Given the description of an element on the screen output the (x, y) to click on. 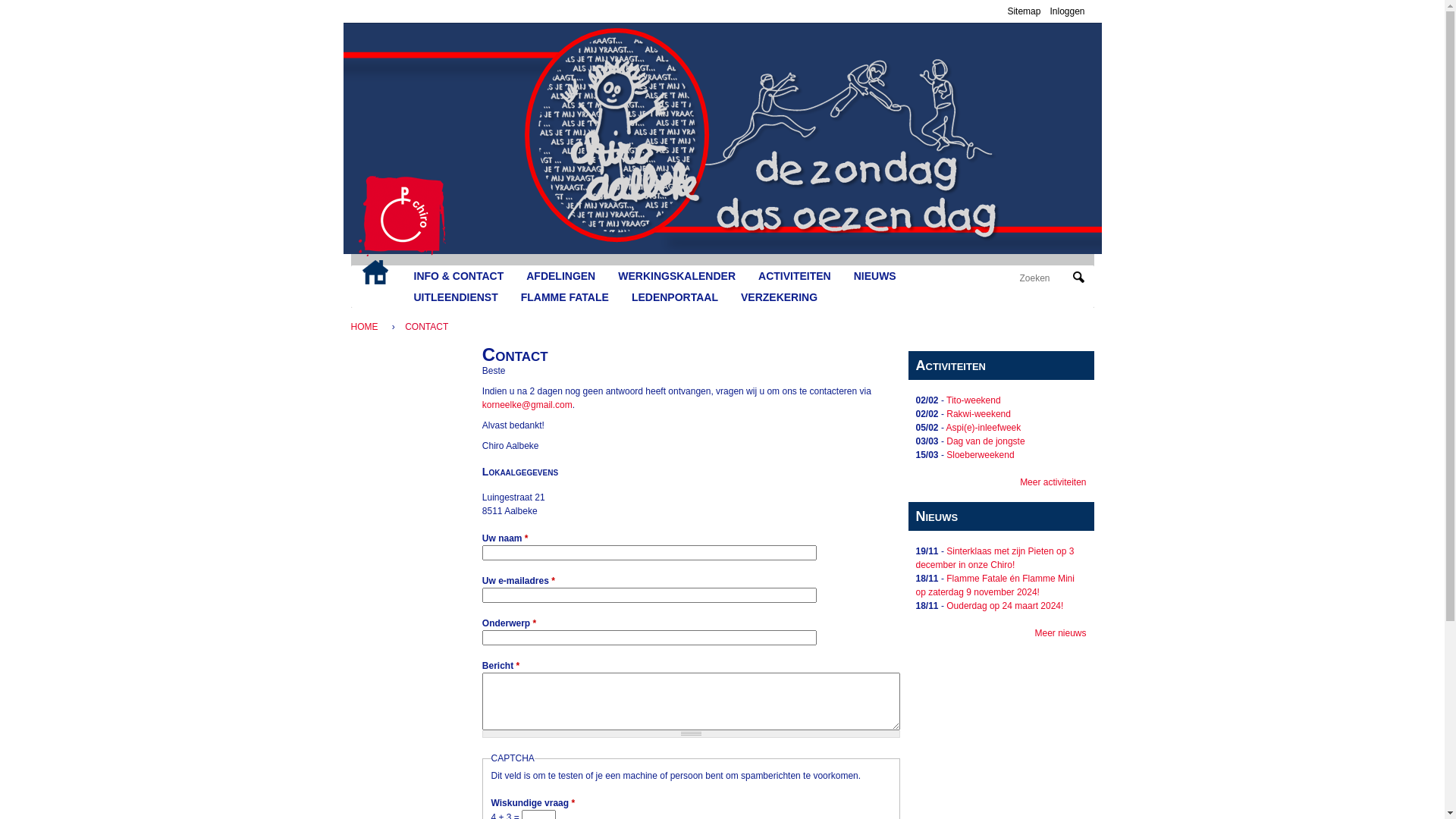
FLAMME FATALE Element type: text (564, 296)
Tito-weekend Element type: text (973, 400)
WERKINGSKALENDER Element type: text (676, 275)
INFO & CONTACT Element type: text (457, 275)
NIEUWS Element type: text (874, 275)
Sinterklaas met zijn Pieten op 3 december in onze Chiro! Element type: text (995, 558)
HOME Element type: text (374, 272)
Rakwi-weekend Element type: text (978, 413)
Meer nieuws Element type: text (1059, 632)
Sloeberweekend Element type: text (979, 454)
Dag van de jongste Element type: text (985, 441)
LEDENPORTAAL Element type: text (674, 296)
Geef de woorden op waarnaar u wilt zoeken. Element type: hover (1043, 277)
Jump to navigation Element type: text (722, 2)
Sitemap Element type: text (1023, 11)
UITLEENDIENST Element type: text (454, 296)
AFDELINGEN Element type: text (560, 275)
VERZEKERING Element type: text (778, 296)
HOME Element type: text (367, 326)
Ouderdag op 24 maart 2024! Element type: text (1004, 605)
Home Element type: hover (401, 215)
Aspi(e)-inleefweek Element type: text (983, 427)
Inloggen Element type: text (1066, 11)
Meer activiteiten Element type: text (1052, 481)
ACTIVITEITEN Element type: text (794, 275)
korneelke@gmail.com Element type: text (527, 404)
